Given the description of an element on the screen output the (x, y) to click on. 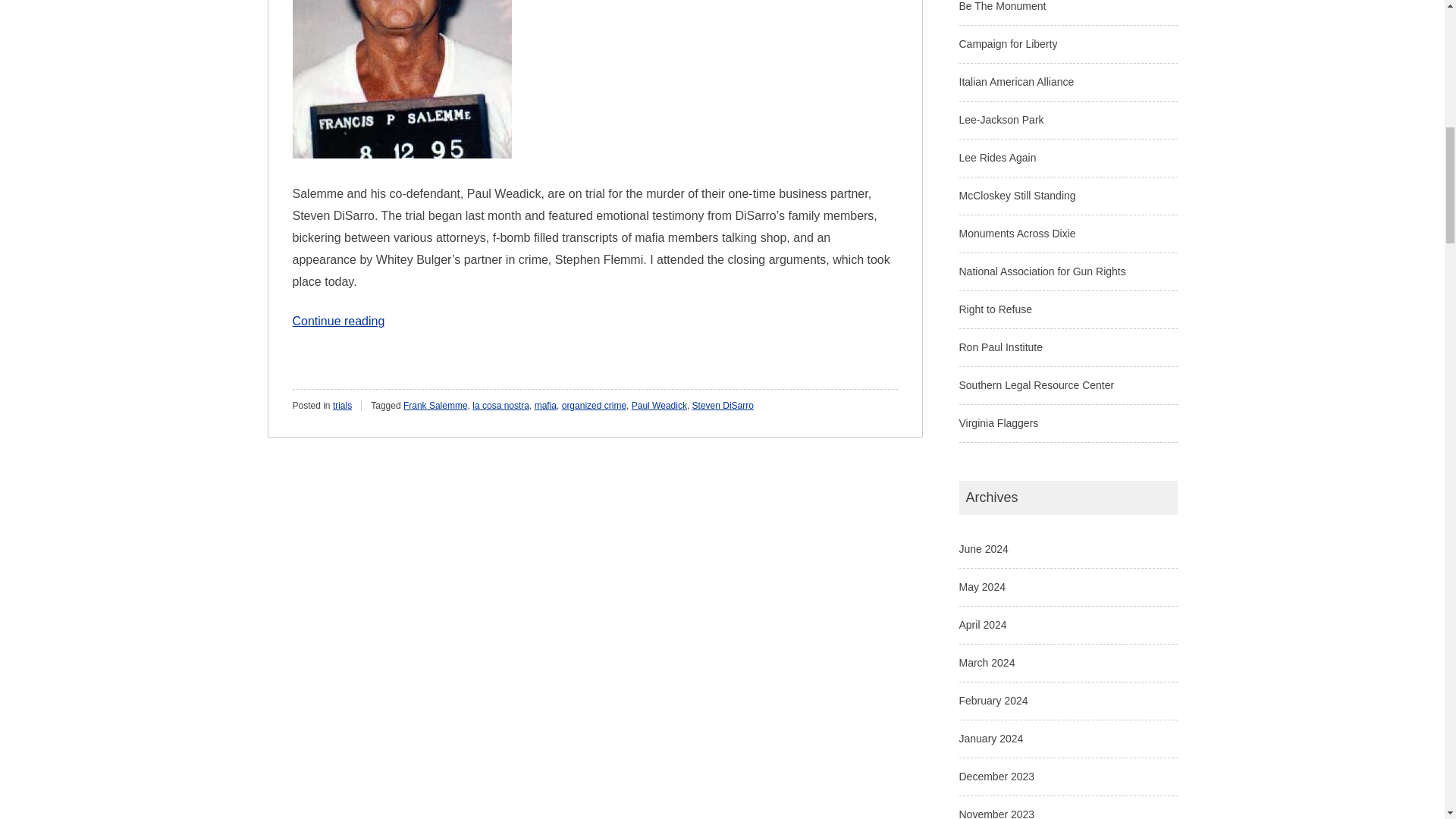
National Association for Gun Rights (1041, 271)
Campaign for Liberty (1007, 43)
Lee-Jackson Park (1000, 119)
Frank Salemme (435, 405)
Southern Legal Resource Center (1035, 385)
Monuments Across Dixie (1016, 233)
Virginia Flaggers (998, 422)
trials (342, 405)
Right to Refuse (995, 309)
February 2024 (992, 700)
organized crime (594, 405)
McCloskey Still Standing (1016, 195)
Paul Weadick (659, 405)
Italian American Alliance (1016, 81)
May 2024 (981, 586)
